Given the description of an element on the screen output the (x, y) to click on. 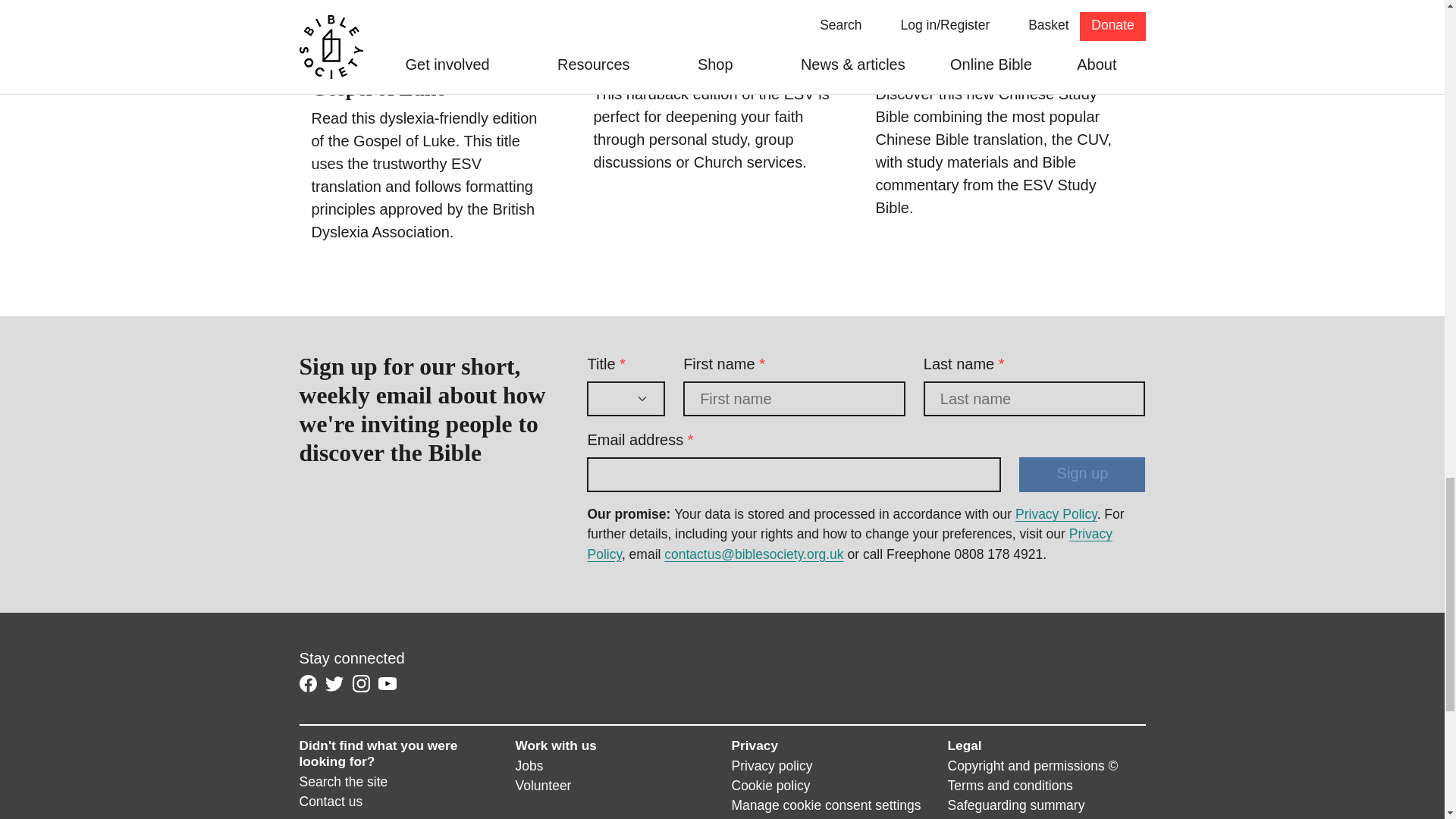
Please select your title (625, 398)
